Given the description of an element on the screen output the (x, y) to click on. 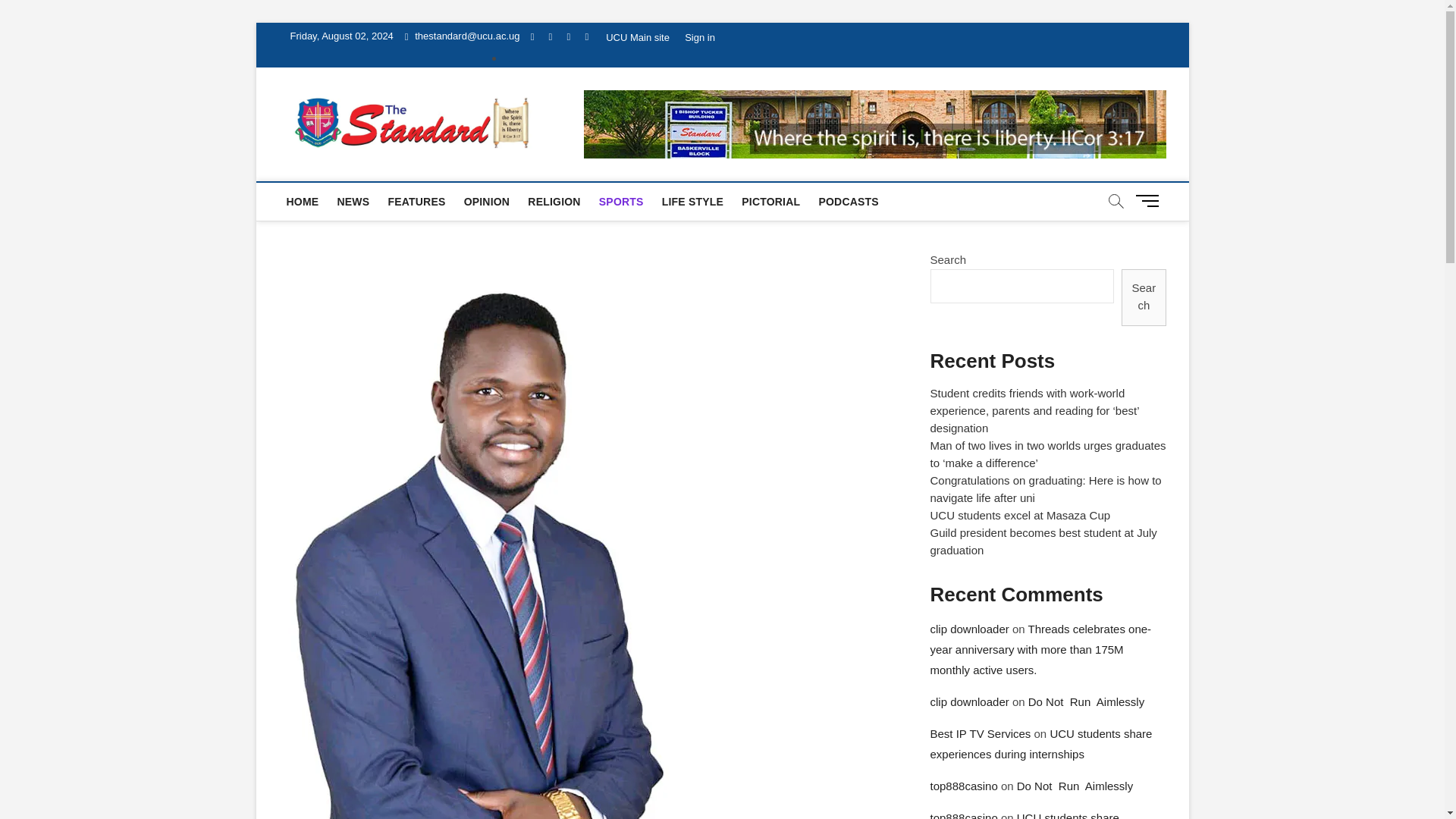
RELIGION (553, 201)
PODCASTS (847, 201)
Sign in (699, 37)
HOME (302, 201)
NEWS (353, 201)
SPORTS (620, 201)
PICTORIAL (770, 201)
The Standard Digital (661, 118)
Mail Us (461, 35)
OPINION (487, 201)
Menu Button (1150, 200)
LIFE STYLE (691, 201)
UCU Main site (637, 37)
The Standard  Digital (661, 118)
